Given the description of an element on the screen output the (x, y) to click on. 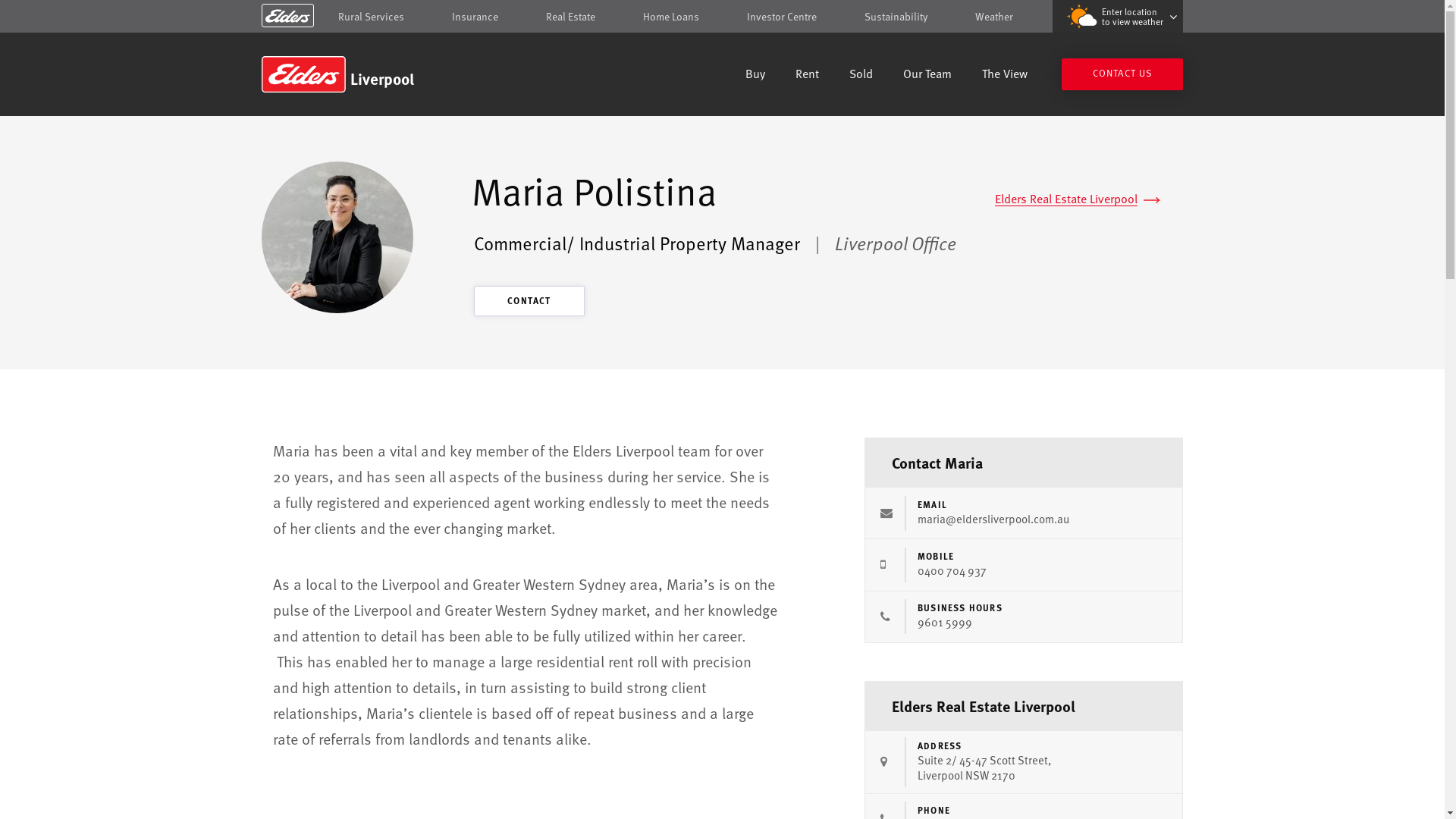
Skip to content Element type: text (722, 17)
CONTACT US Element type: text (1122, 74)
Real Estate Element type: text (570, 16)
Our Team Element type: text (927, 75)
Insurance Element type: text (474, 16)
Sustainability Element type: text (895, 16)
Enter location to view weather Element type: text (1117, 16)
Weather Element type: text (994, 16)
Sold Element type: text (860, 75)
Liverpool Office Element type: text (895, 242)
Rural Services Element type: text (371, 16)
The View Element type: text (1004, 75)
Home Loans Element type: text (671, 16)
Investor Centre Element type: text (781, 16)
Rent Element type: text (807, 75)
CONTACT Element type: text (528, 300)
Liverpool Element type: text (369, 74)
Buy Element type: text (755, 75)
Elders Real Estate Liverpool Element type: text (1077, 198)
